Given the description of an element on the screen output the (x, y) to click on. 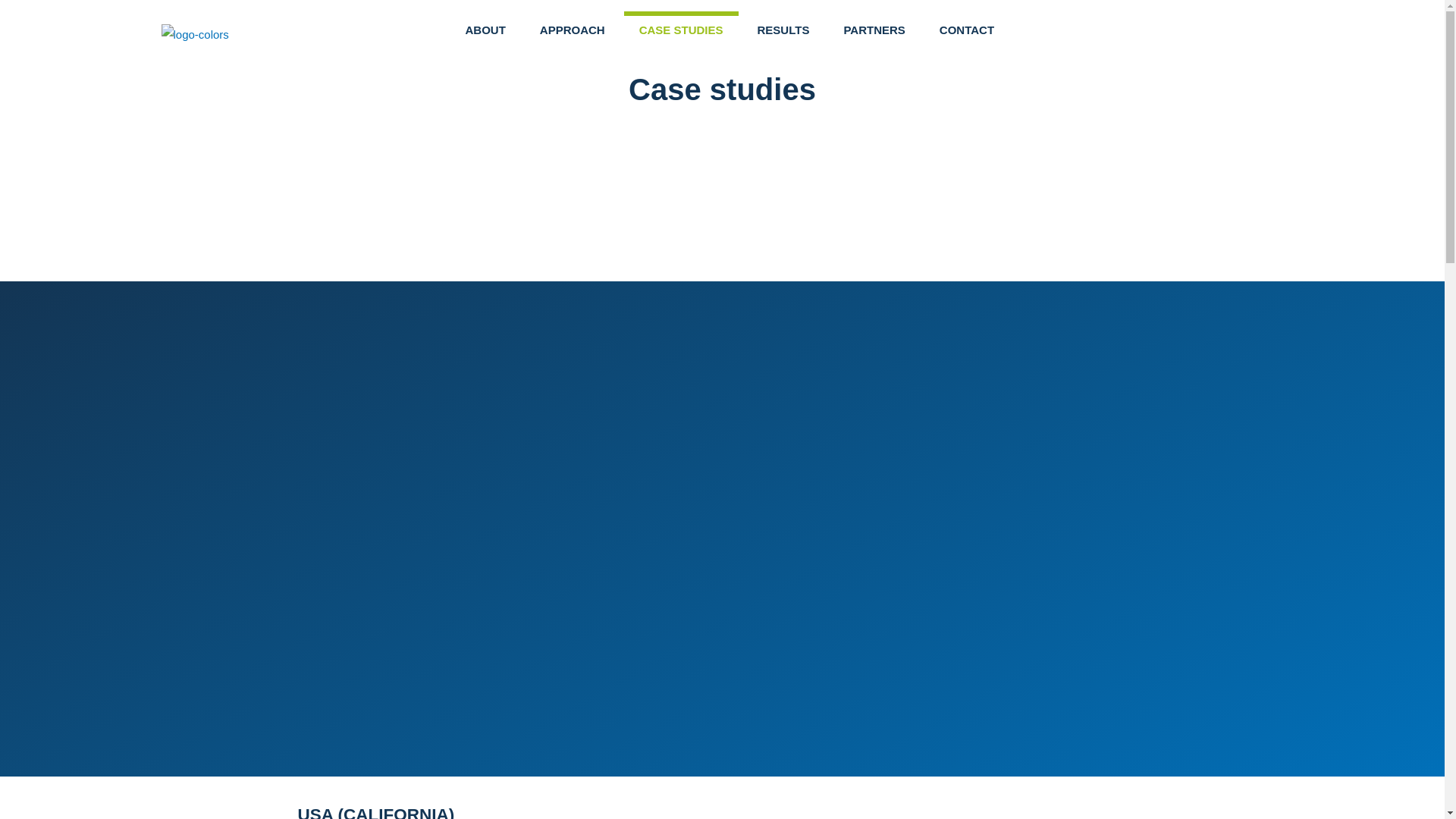
RESULTS (783, 30)
Home (360, 130)
APPROACH (572, 30)
Case studies (432, 130)
Case studies (432, 130)
CONTACT (966, 30)
ABOUT (485, 30)
Home (360, 130)
CASE STUDIES (681, 30)
PARTNERS (874, 30)
